Given the description of an element on the screen output the (x, y) to click on. 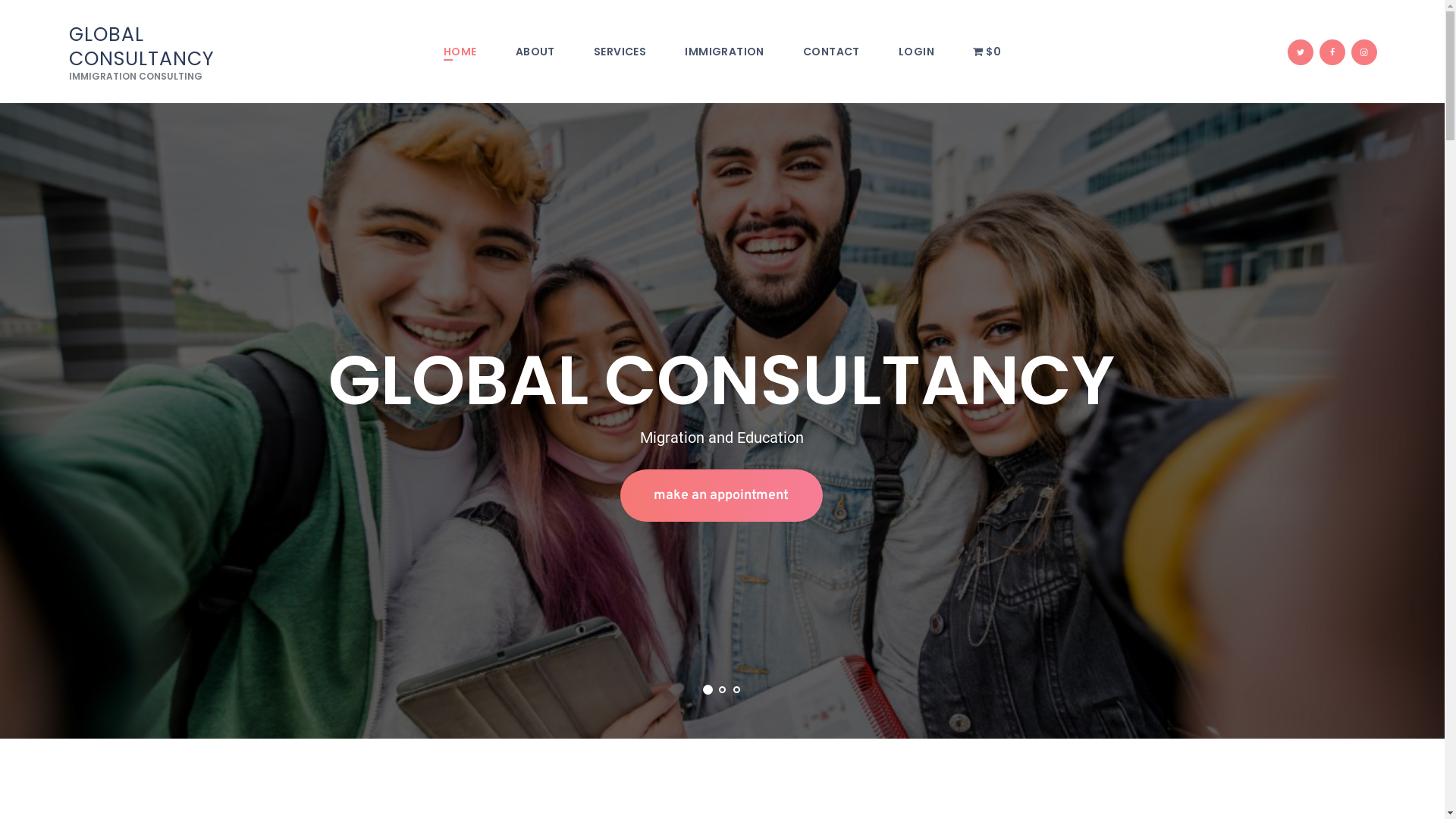
HOME Element type: text (459, 52)
LOGIN Element type: text (915, 52)
ABOUT Element type: text (534, 52)
$0 Element type: text (986, 52)
GLOBAL CONSULTANCY
IMMIGRATION CONSULTING Element type: text (168, 51)
SERVICES Element type: text (619, 52)
CONTACT Element type: text (830, 52)
IMMIGRATION Element type: text (724, 52)
